Given the description of an element on the screen output the (x, y) to click on. 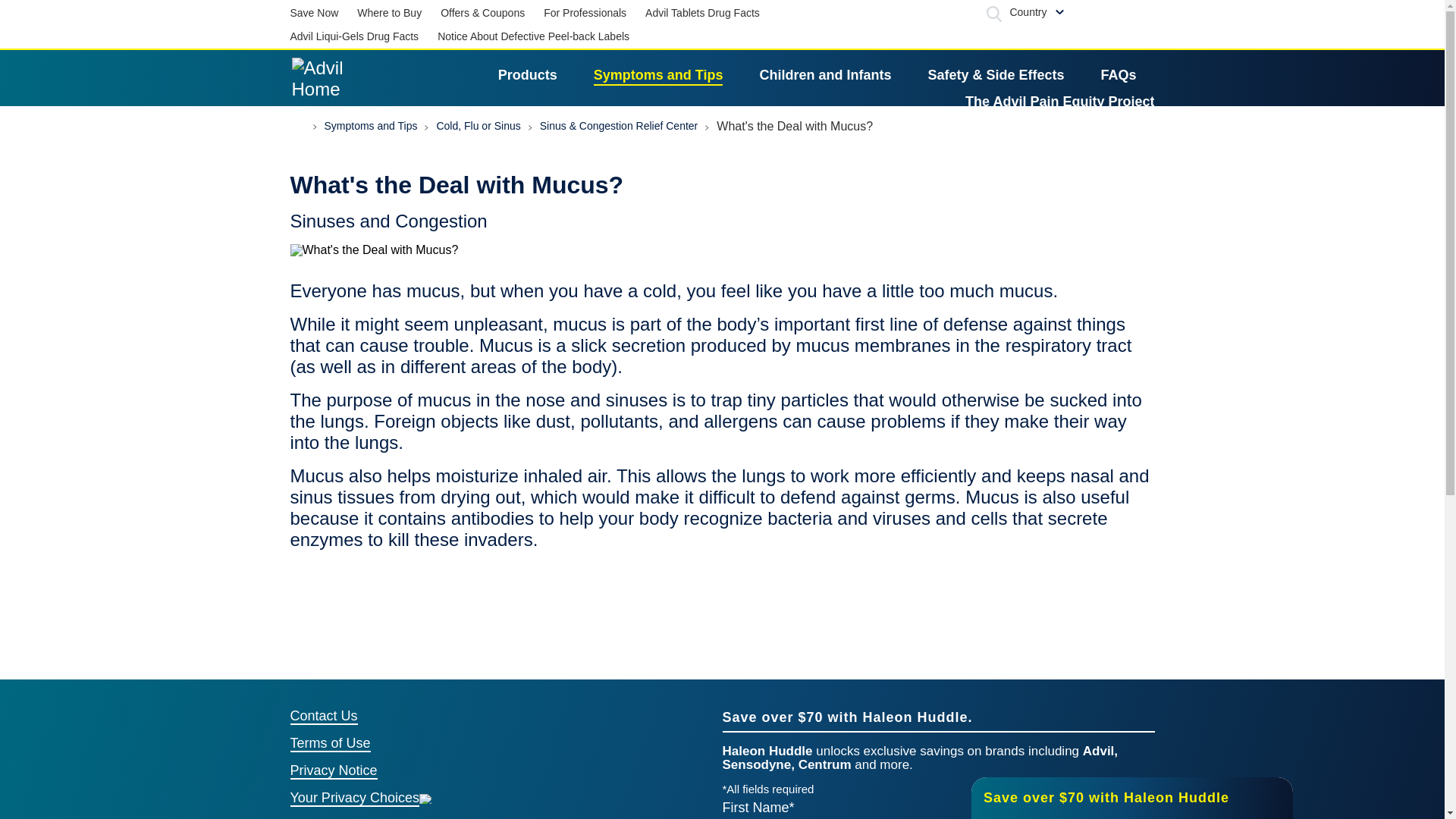
Where to Buy (389, 13)
Advil Home (326, 78)
Haleon (1109, 12)
Haleon (1109, 12)
Save Now (313, 13)
Notice About Defective Peel-back Labels (533, 37)
Products  (527, 75)
Advil Liqui-Gels Drug Facts (354, 37)
Advil Tablets Drug Facts (702, 13)
For Professionals (584, 13)
